Given the description of an element on the screen output the (x, y) to click on. 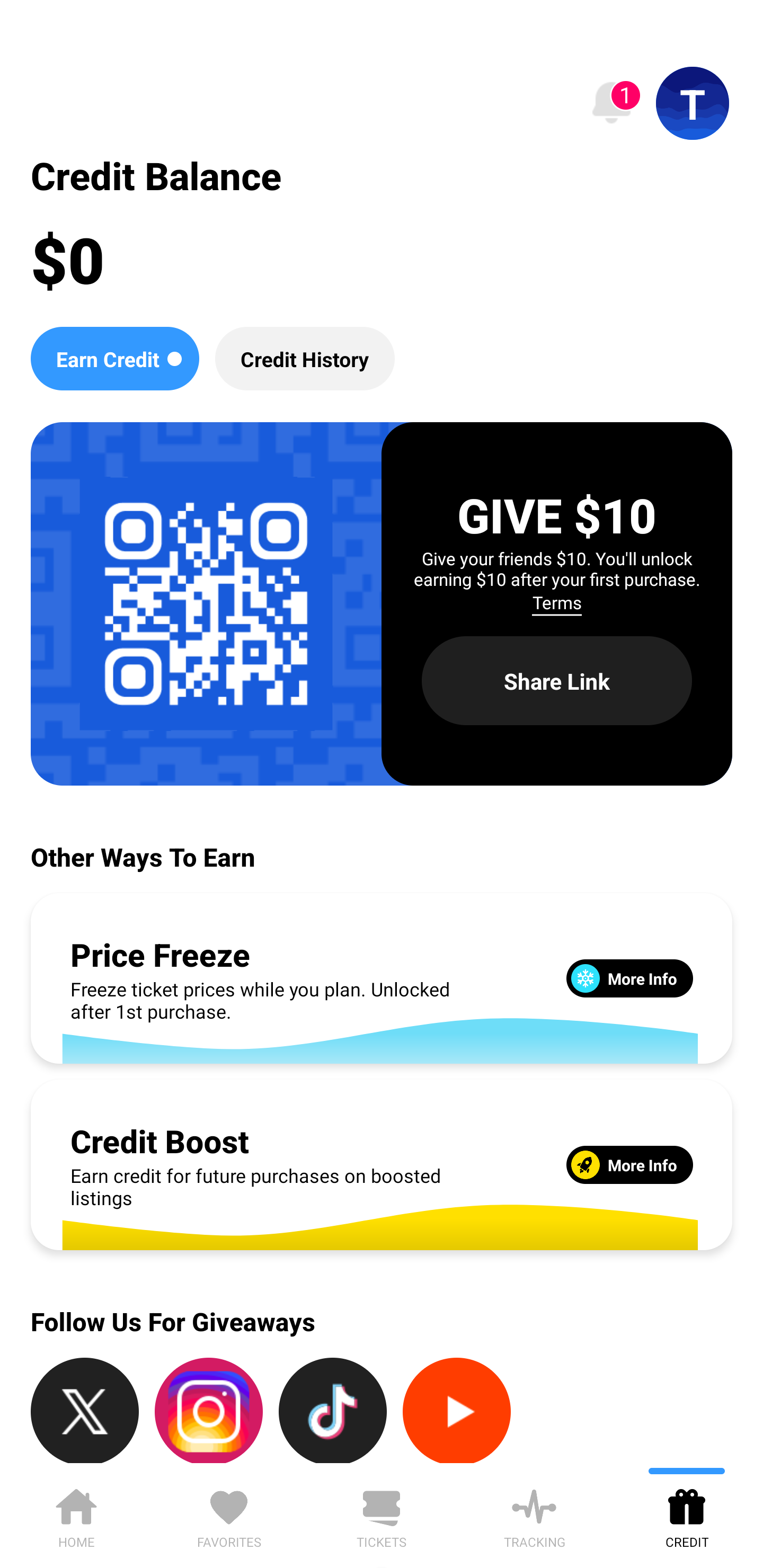
T (692, 103)
1 (611, 103)
Earn Credit (114, 358)
Credit History (304, 358)
Share Link (556, 680)
More Info (629, 978)
More Info (629, 1164)
X (84, 1409)
Instagram (208, 1409)
TikTok (332, 1409)
YouTube (456, 1409)
HOME (76, 1515)
FAVORITES (228, 1515)
TICKETS (381, 1515)
TRACKING (533, 1515)
CREDIT (686, 1515)
